Given the description of an element on the screen output the (x, y) to click on. 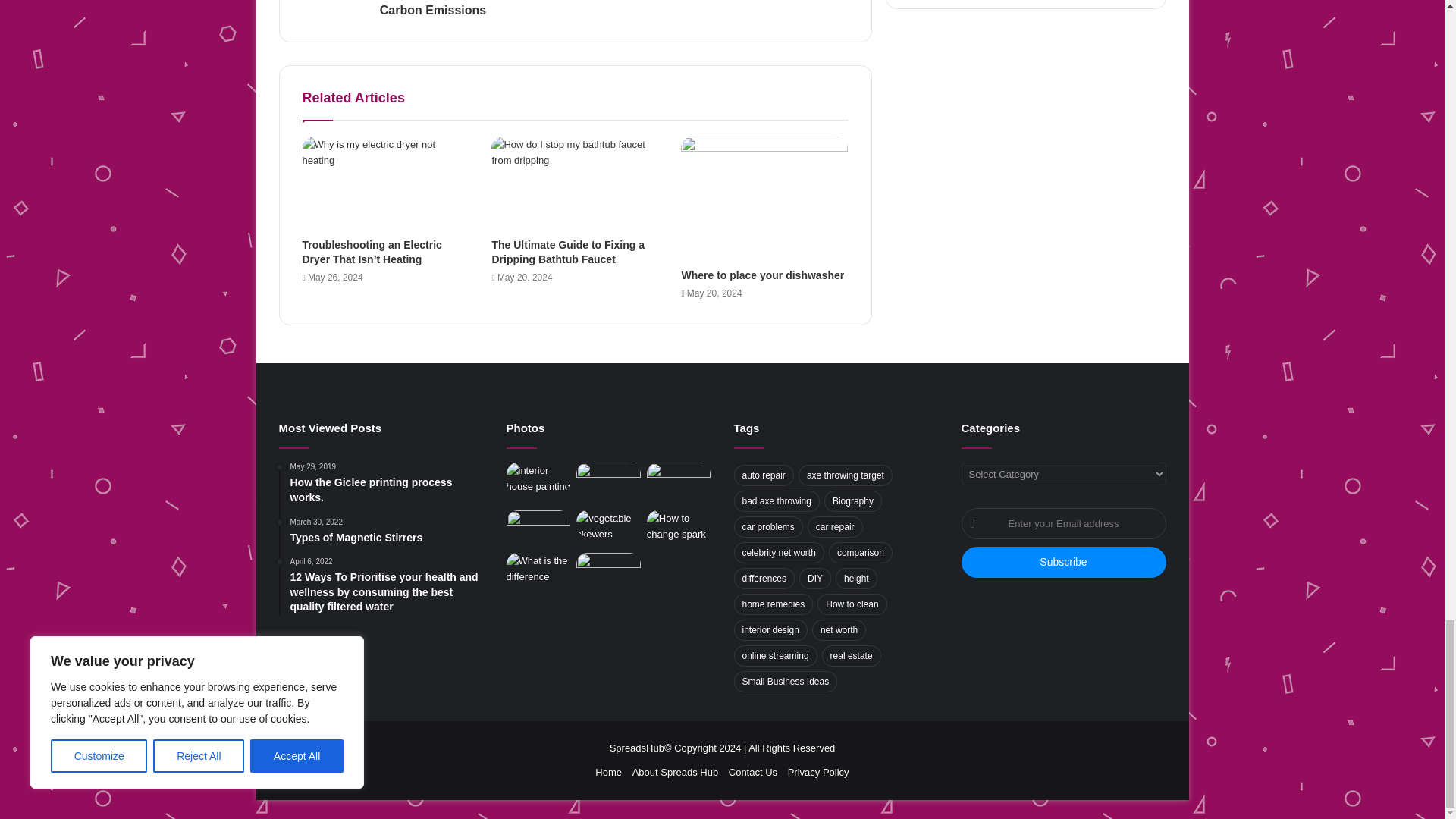
Subscribe (1063, 562)
